Given the description of an element on the screen output the (x, y) to click on. 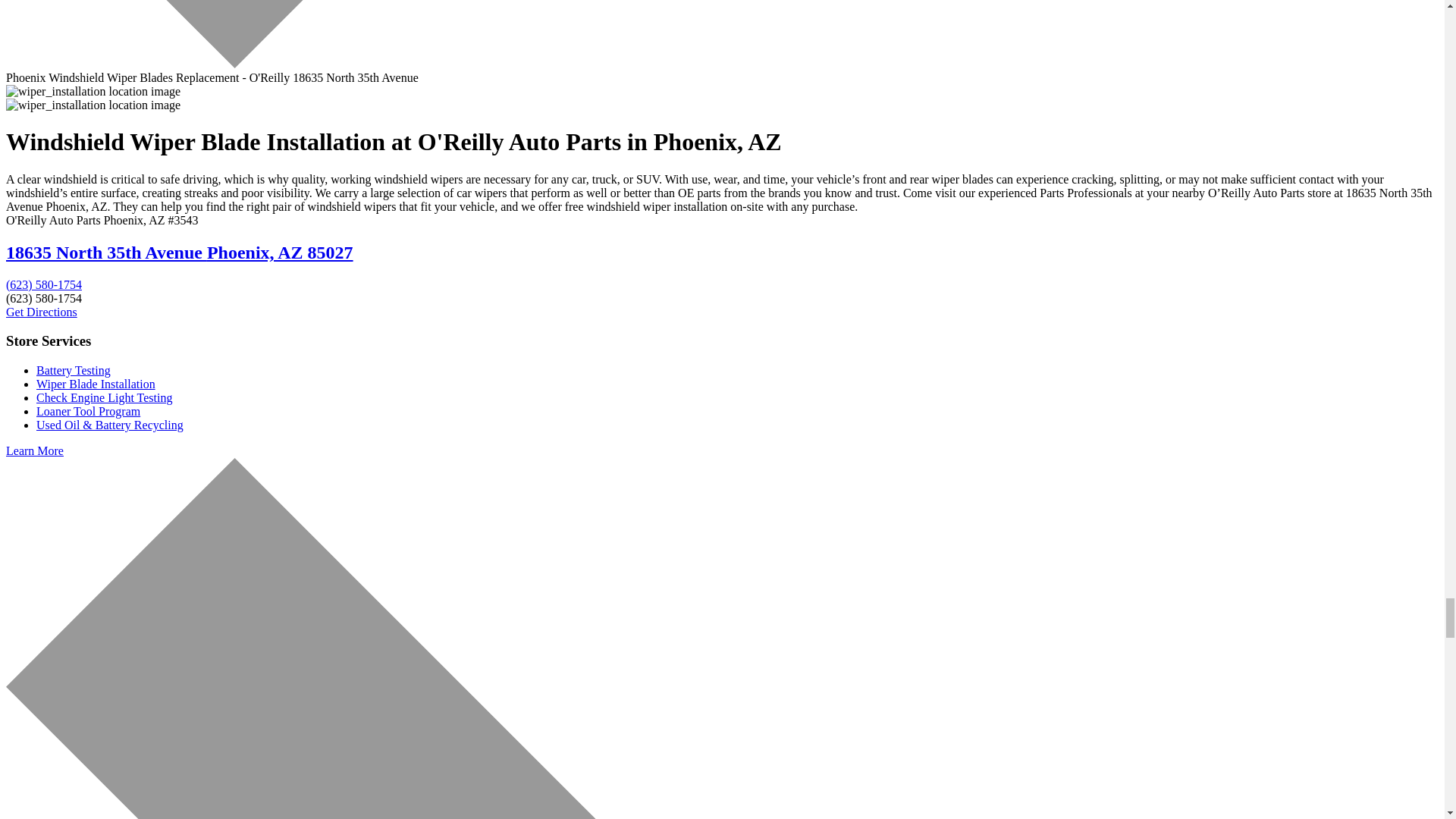
Check Engine Light Testing (103, 397)
Loaner Tool Program (87, 410)
 Phoenix O'Reilly Auto Parts (41, 311)
Wiper Blade Installation (95, 383)
Battery Testing (73, 369)
Get Directions (41, 311)
